Given the description of an element on the screen output the (x, y) to click on. 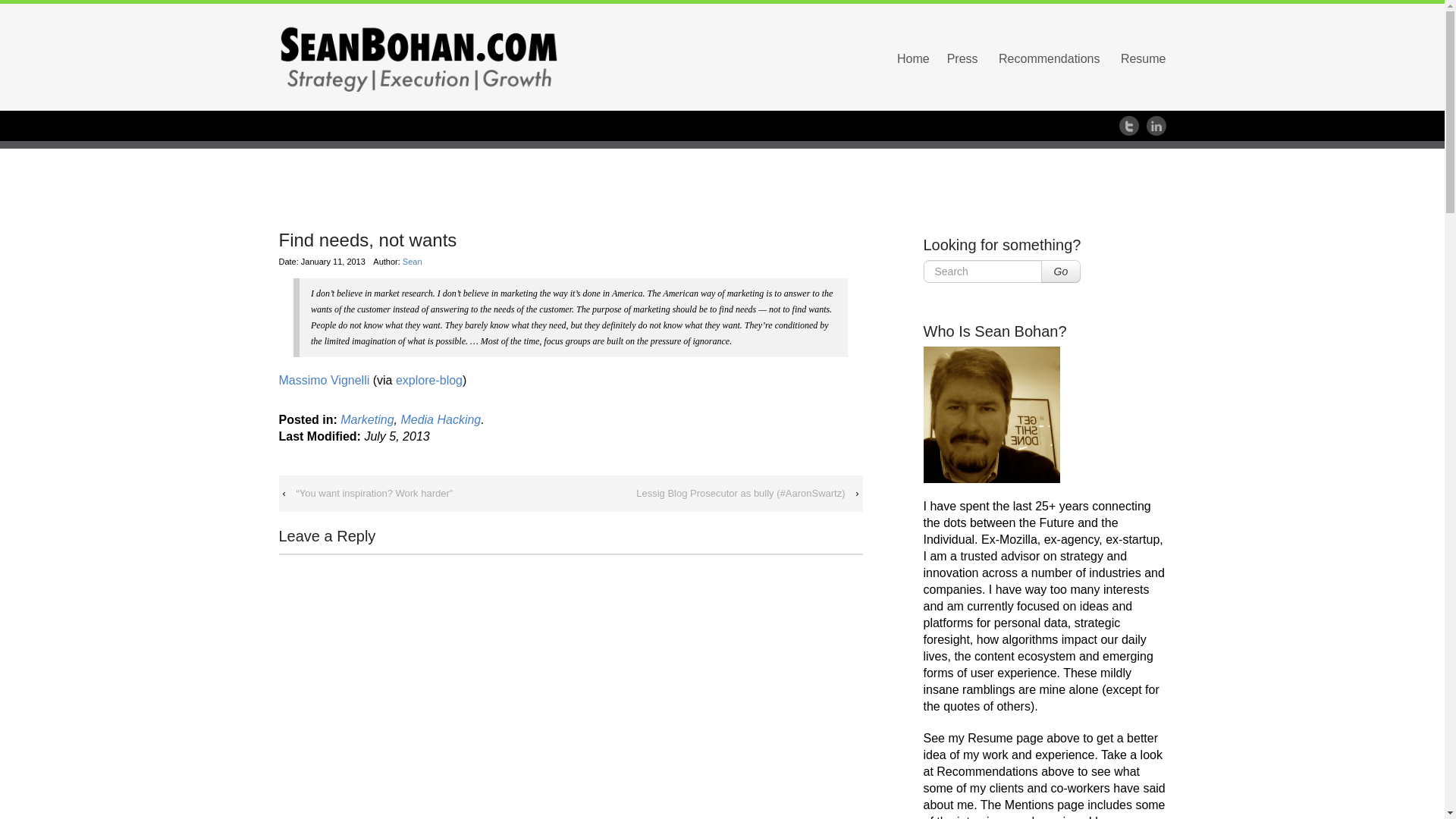
Resume (1143, 58)
Media Hacking (440, 419)
SeanBohan.com (419, 57)
explore-blog (429, 379)
Marketing (366, 419)
Massimo Vignelli (324, 379)
Recommendations (1048, 58)
Sean (412, 261)
Go (1060, 271)
